Given the description of an element on the screen output the (x, y) to click on. 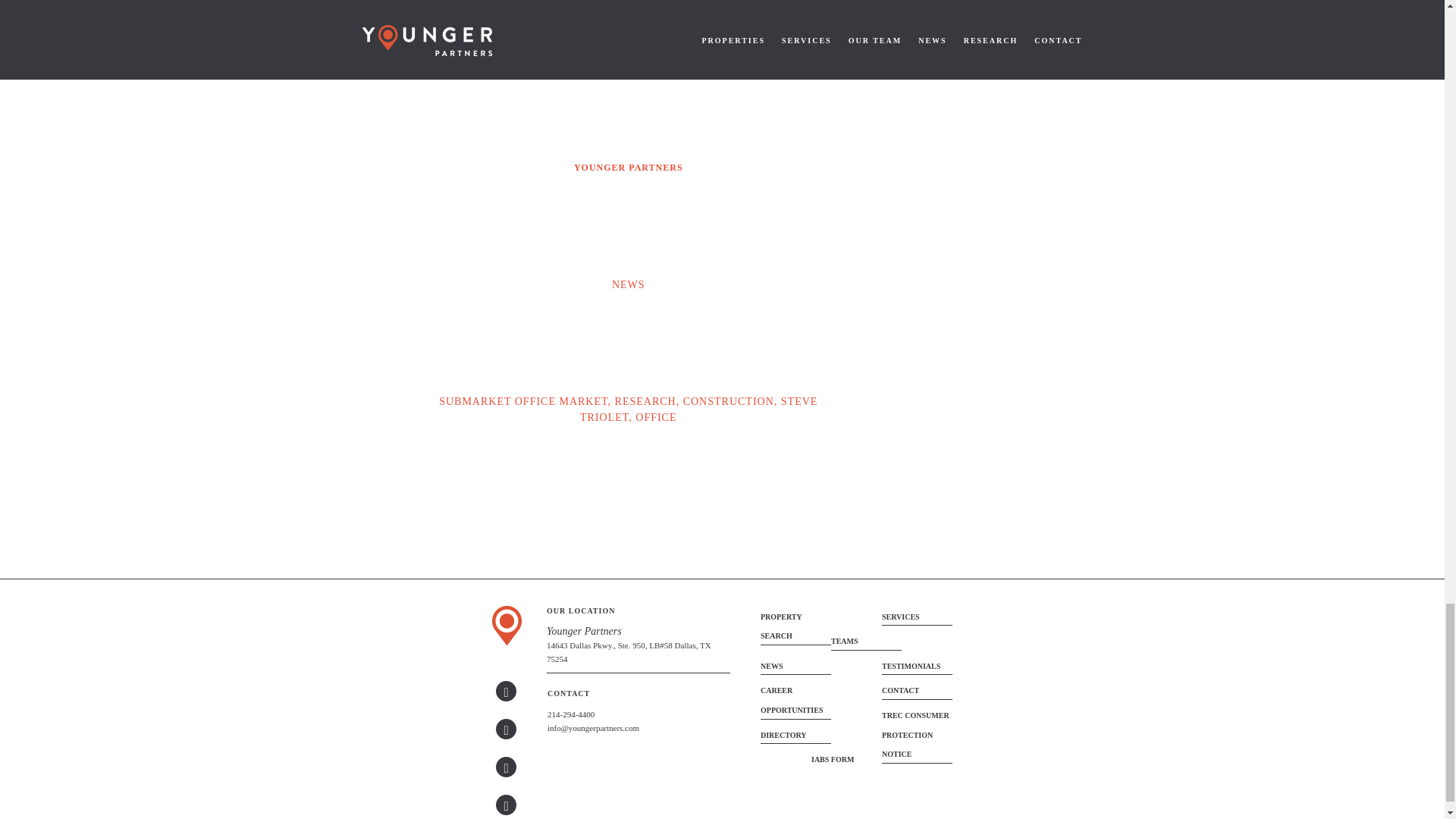
NEWS (628, 284)
MARCH 7, 2019MARCH 7, 2019 (627, 50)
Instagram (506, 766)
CONSTRUCTION (728, 401)
STEVE TRIOLET (697, 409)
Twitter (506, 729)
Facebook (506, 804)
RESEARCH (645, 401)
OFFICE (655, 417)
SUBMARKET OFFICE MARKET (523, 401)
